Given the description of an element on the screen output the (x, y) to click on. 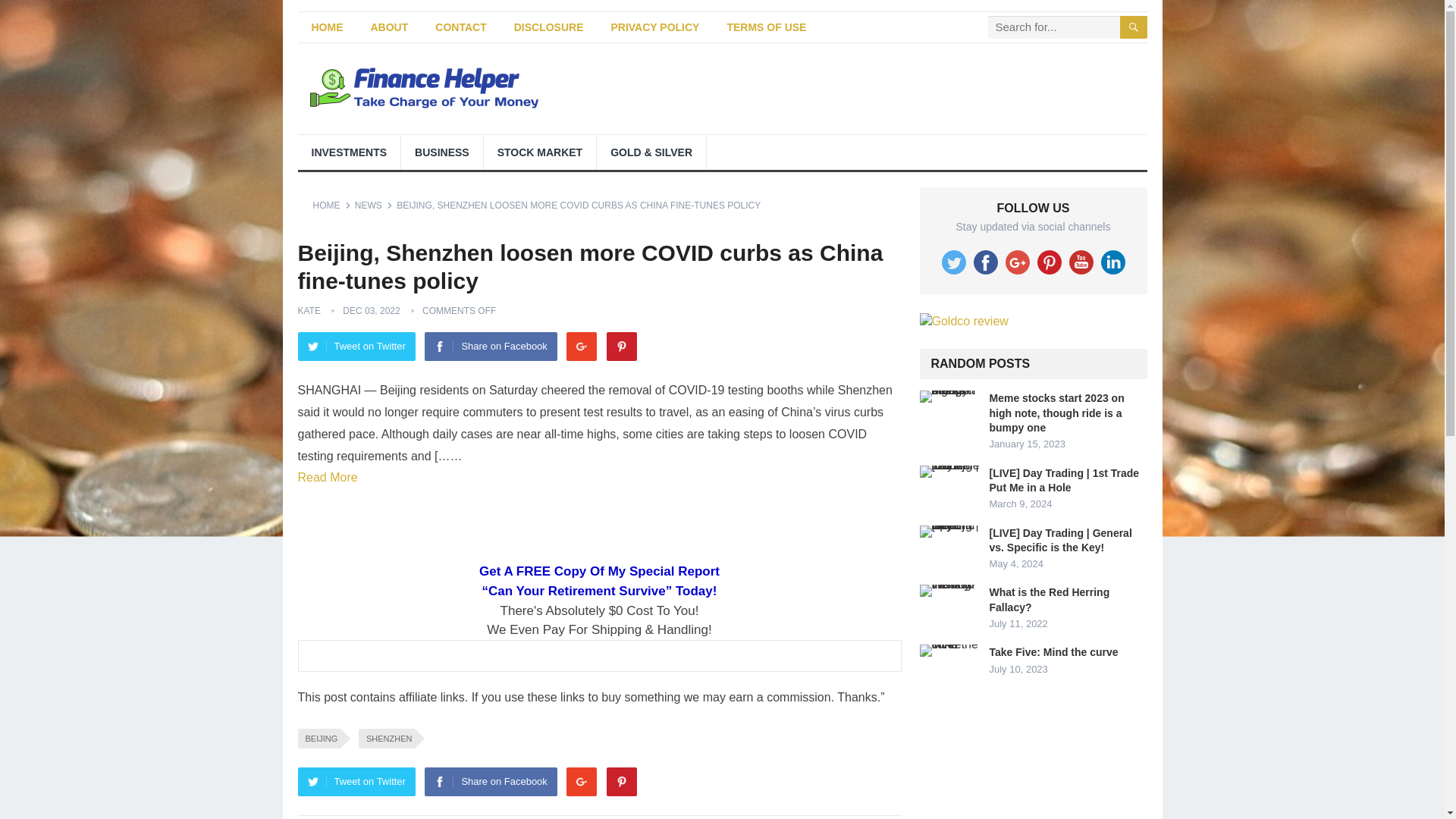
Share on Facebook (490, 346)
BEIJING (318, 738)
HOME (331, 204)
Tweet on Twitter (355, 781)
DISCLOSURE (548, 27)
Tweet on Twitter (355, 346)
View all posts in News (374, 204)
Share on Facebook (490, 781)
HOME (326, 27)
KATE (308, 310)
Read More (326, 477)
SHENZHEN (386, 738)
TERMS OF USE (766, 27)
PRIVACY POLICY (654, 27)
BUSINESS (442, 152)
